Given the description of an element on the screen output the (x, y) to click on. 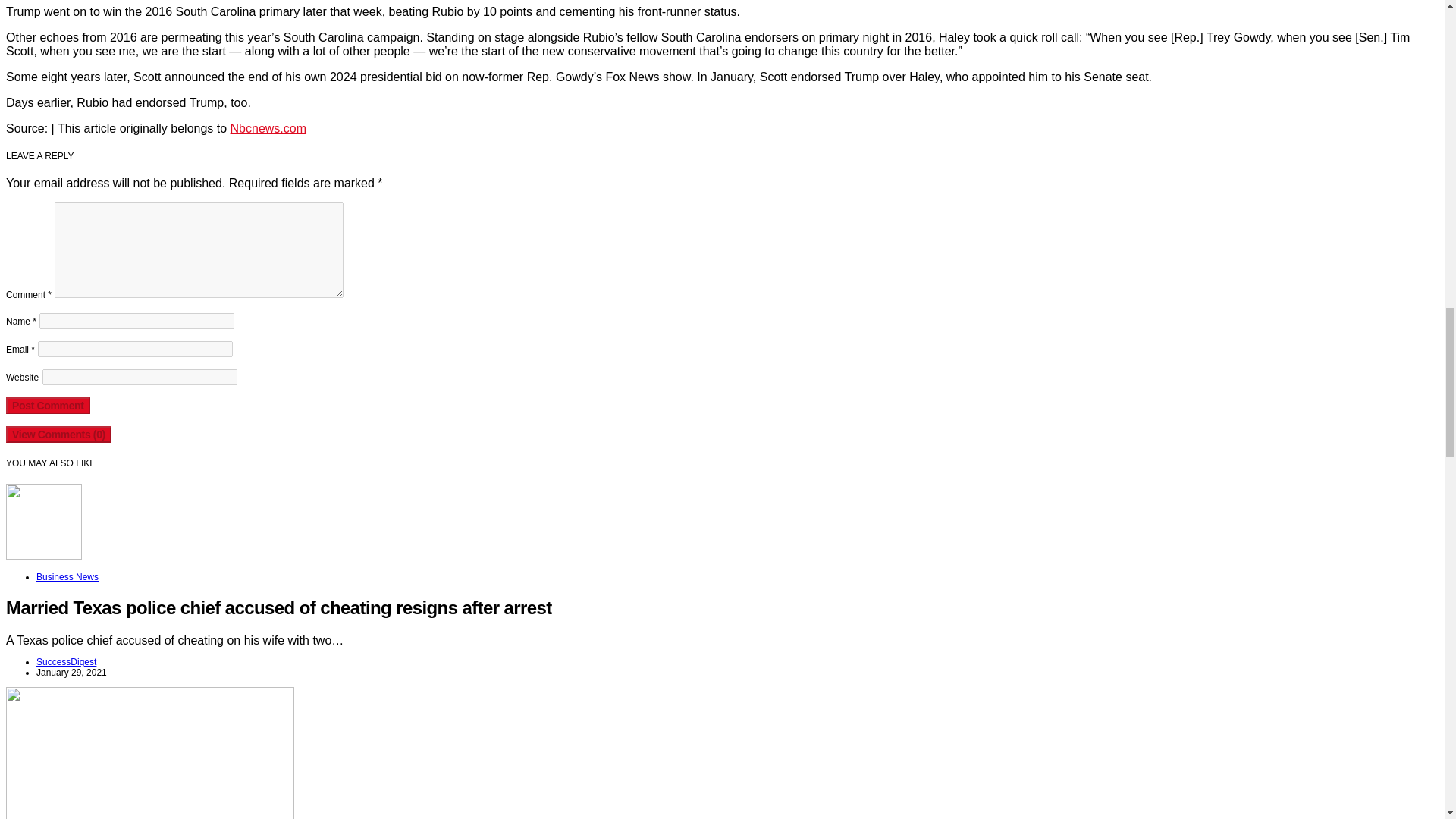
View all posts by SuccessDigest (66, 661)
Post Comment (47, 405)
